Given the description of an element on the screen output the (x, y) to click on. 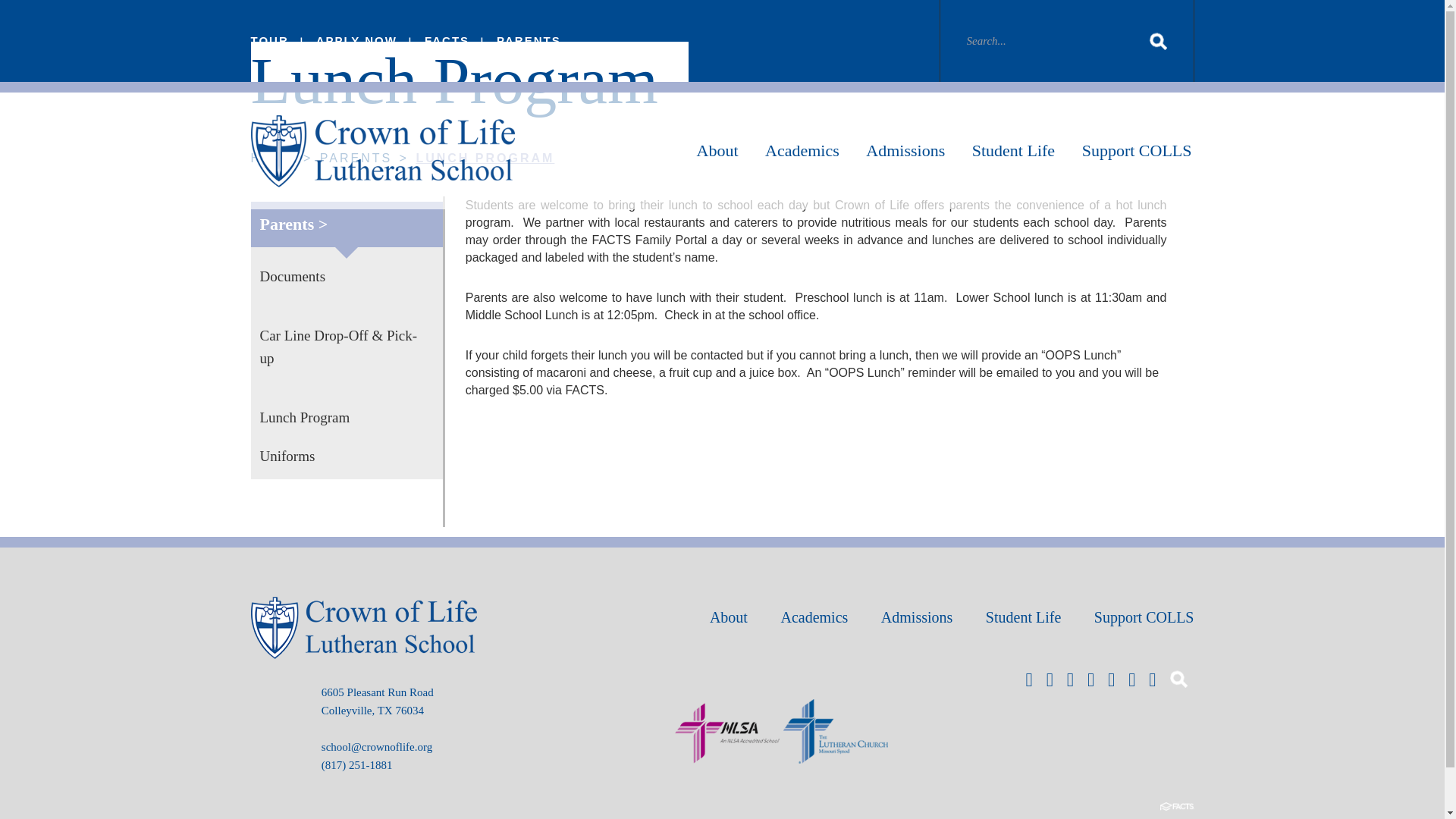
Academics (801, 151)
APPLY NOW (356, 40)
PARENTS (528, 40)
TOUR (269, 40)
FACTS (446, 40)
About (717, 151)
